Given the description of an element on the screen output the (x, y) to click on. 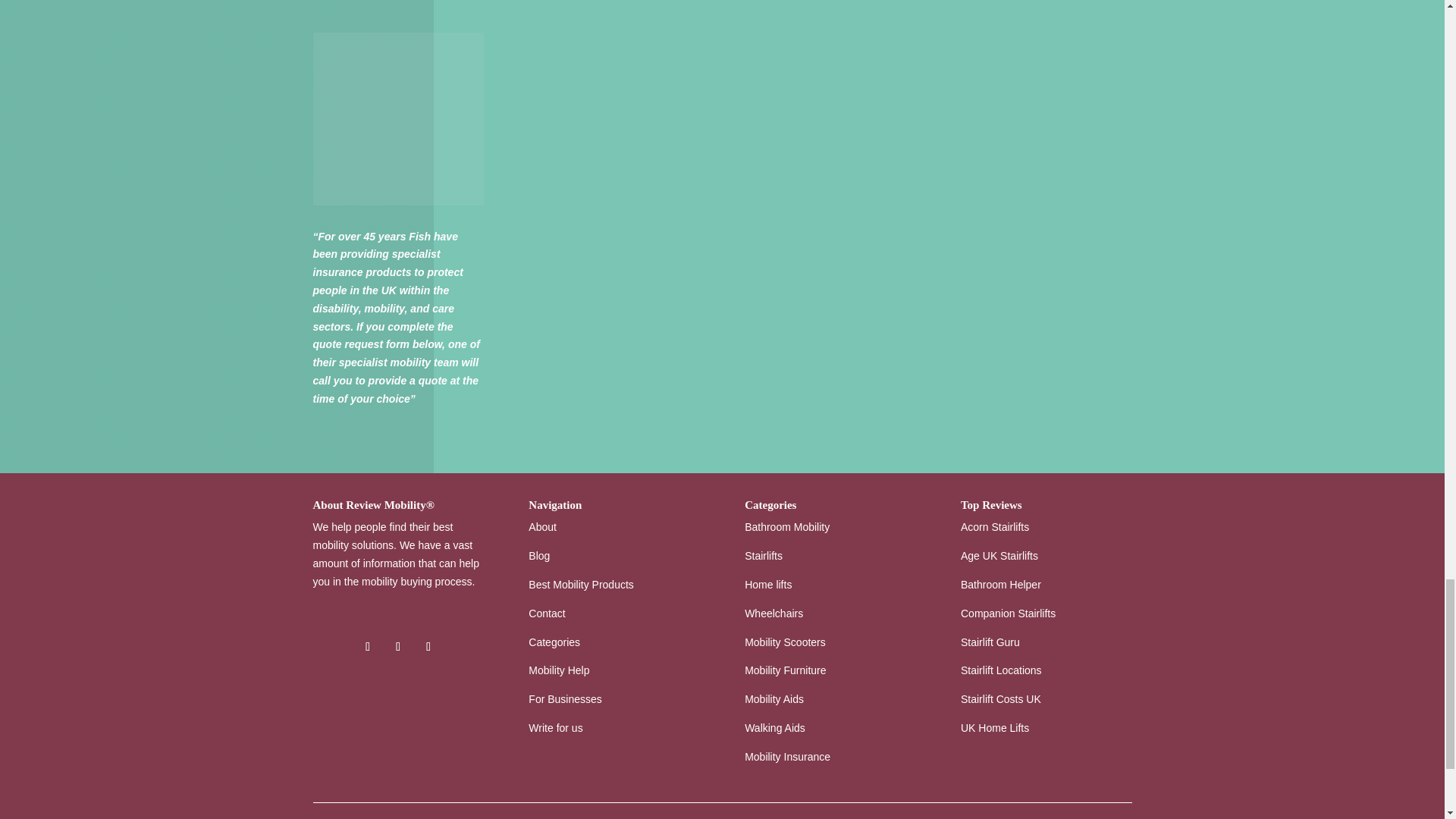
Follow on Facebook (367, 646)
Follow on X (397, 646)
Follow on Instagram (428, 646)
